Given the description of an element on the screen output the (x, y) to click on. 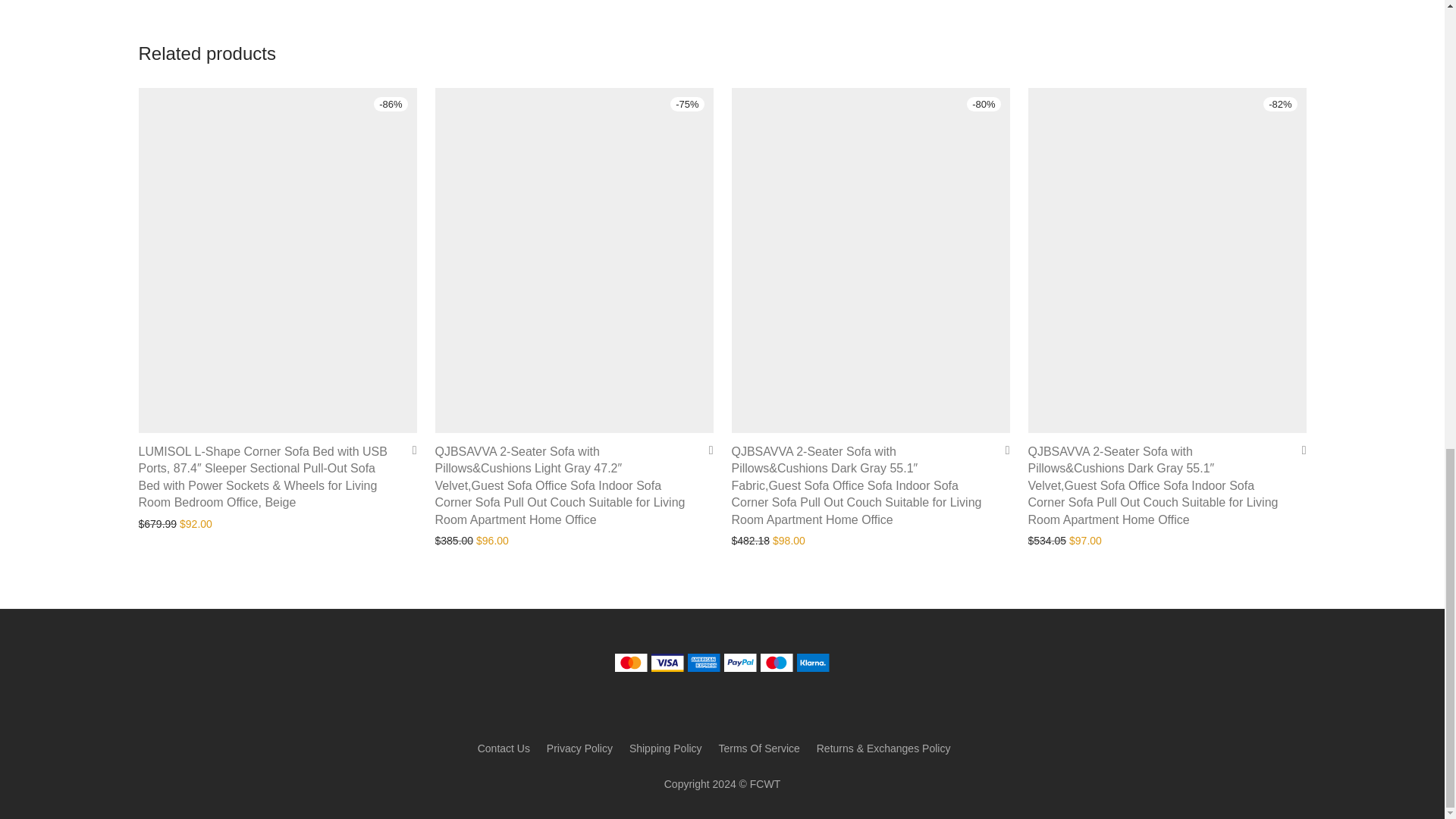
Add to Wishlist (1001, 449)
Add to Wishlist (408, 449)
Add to Wishlist (705, 449)
